Given the description of an element on the screen output the (x, y) to click on. 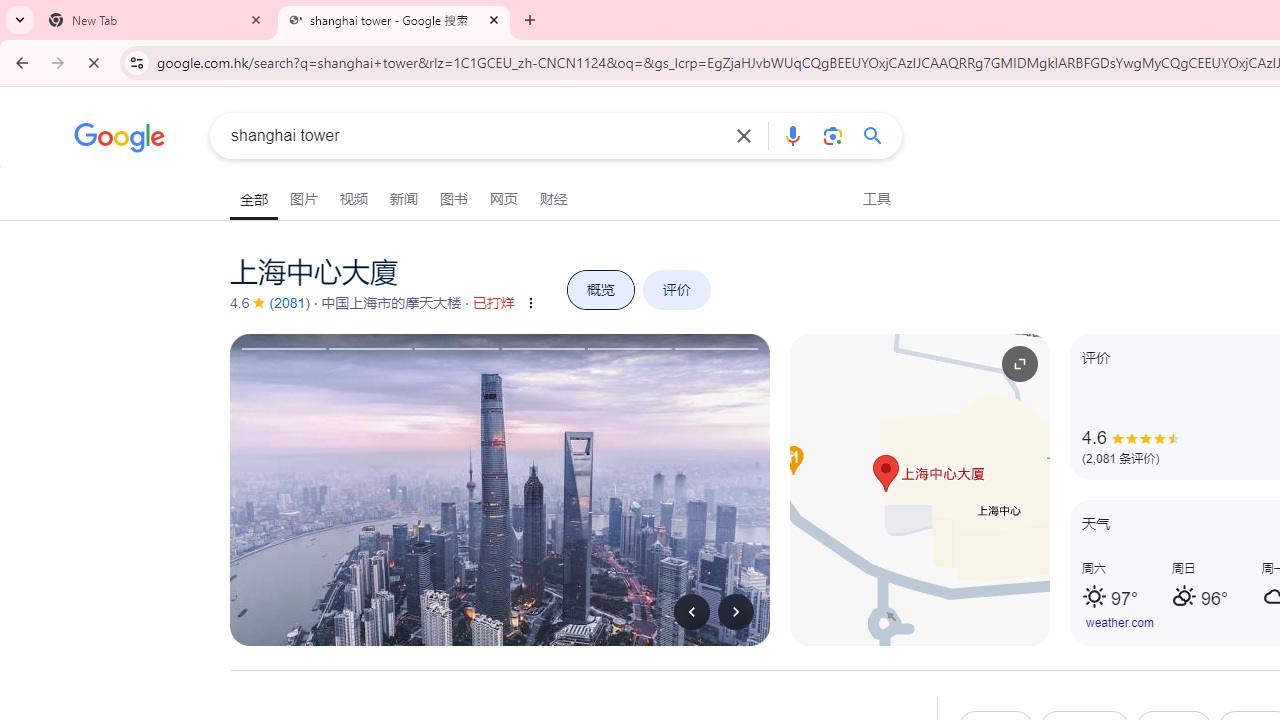
New Tab (156, 20)
